Given the description of an element on the screen output the (x, y) to click on. 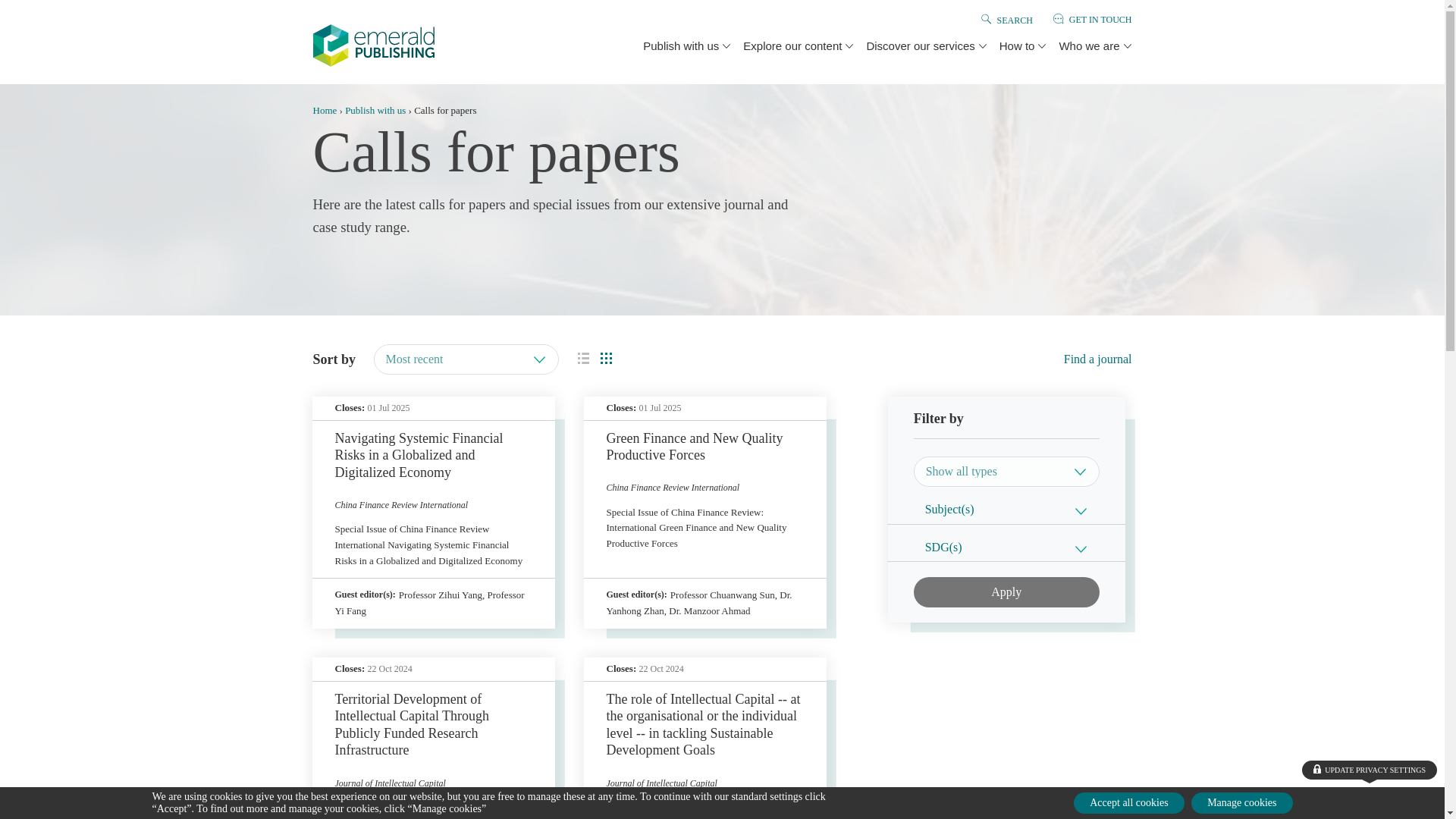
SEARCH (1013, 20)
Manage cookies (1241, 803)
GET IN TOUCH (1100, 19)
Accept all cookies (1128, 803)
Publish with us (680, 45)
UPDATE PRIVACY SETTINGS (1369, 769)
